Given the description of an element on the screen output the (x, y) to click on. 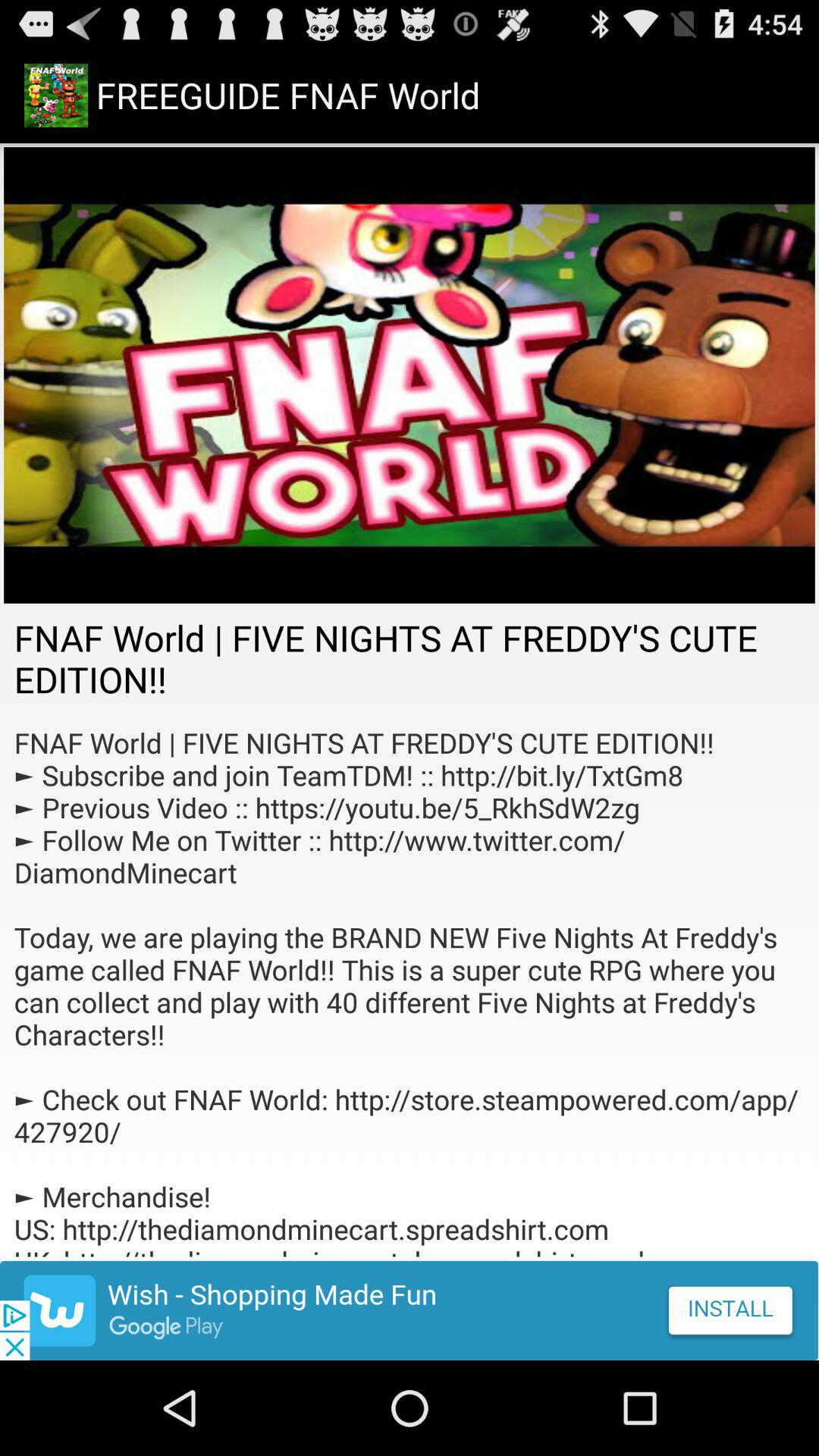
advertisement link (409, 1310)
